Given the description of an element on the screen output the (x, y) to click on. 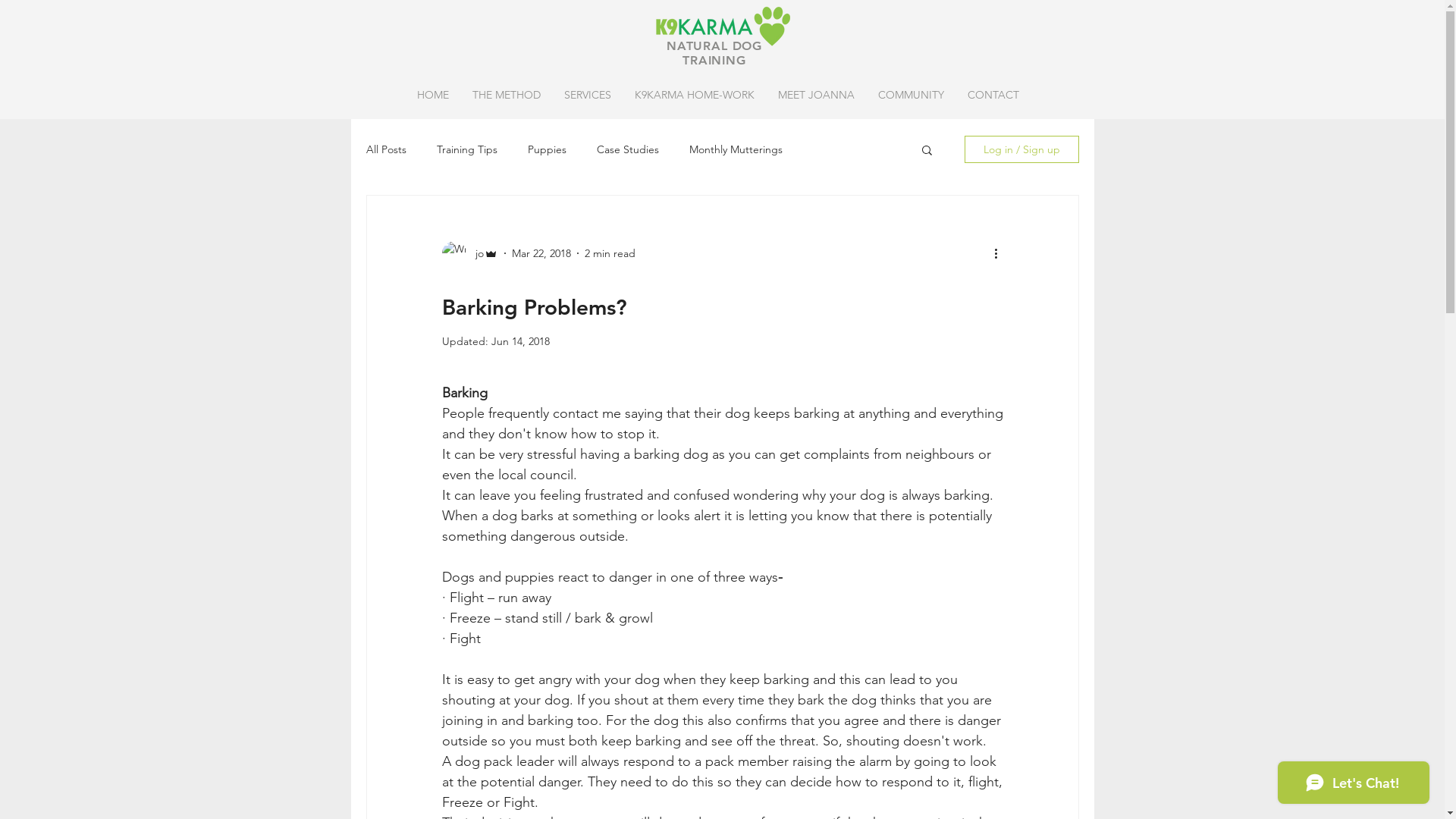
HOME Element type: text (432, 94)
COMMUNITY Element type: text (910, 94)
CONTACT Element type: text (992, 94)
THE METHOD Element type: text (506, 94)
Puppies Element type: text (546, 149)
MEET JOANNA Element type: text (815, 94)
K9KARMA HOME-WORK Element type: text (694, 94)
All Posts Element type: text (385, 149)
Monthly Mutterings Element type: text (734, 149)
Log in / Sign up Element type: text (1021, 149)
Training Tips Element type: text (466, 149)
Case Studies Element type: text (627, 149)
SERVICES Element type: text (587, 94)
